Given the description of an element on the screen output the (x, y) to click on. 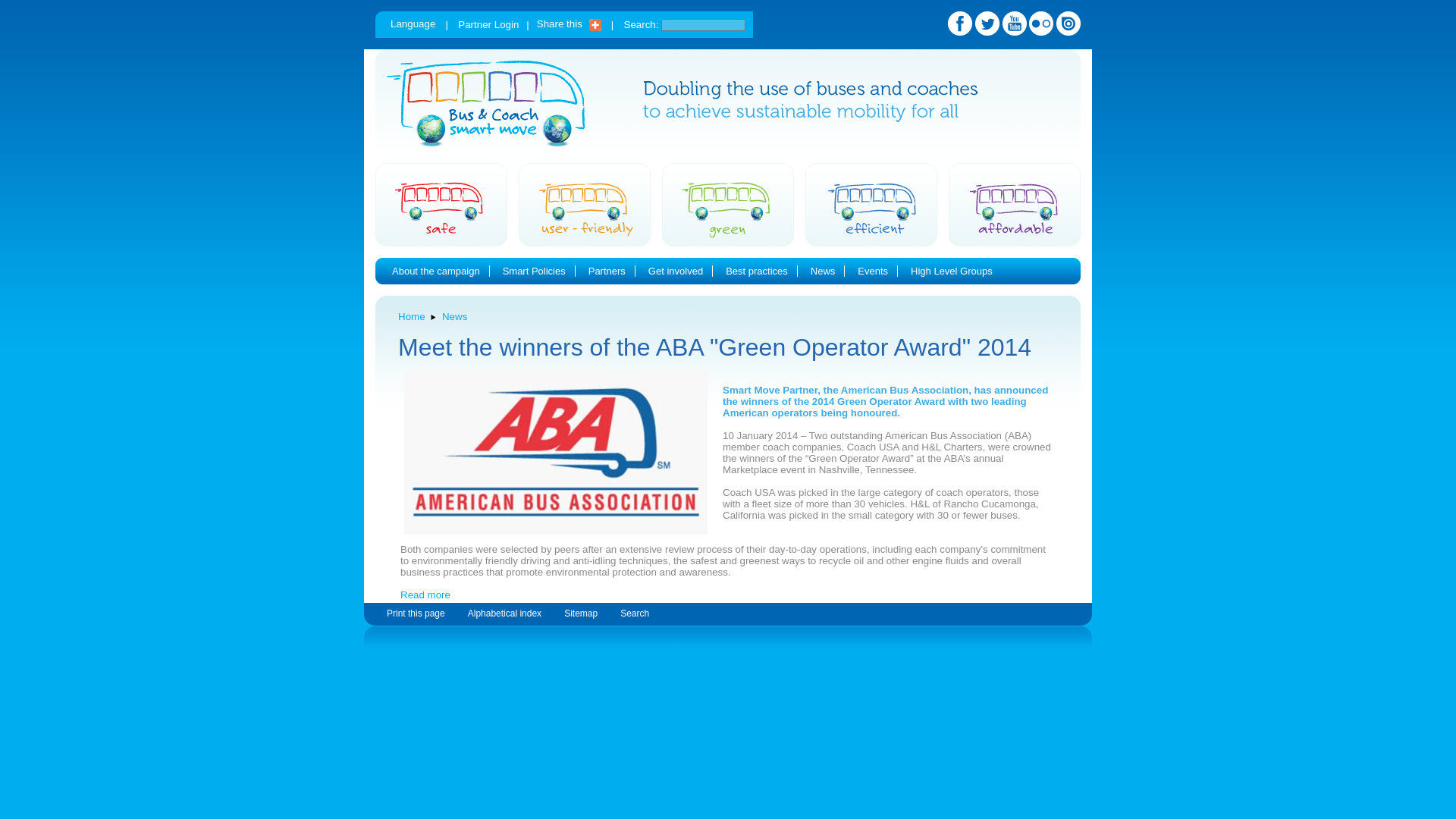
Best practices (756, 270)
Home (411, 316)
Print this page (416, 613)
News (822, 270)
High Level Groups (951, 270)
Partner Login (488, 24)
Get involved (675, 270)
Search (634, 613)
Partners (607, 270)
Sitemap (580, 613)
Print this page (416, 613)
Alphabetical index (504, 613)
News (454, 316)
Smart Policies (534, 270)
Read more (424, 594)
